Given the description of an element on the screen output the (x, y) to click on. 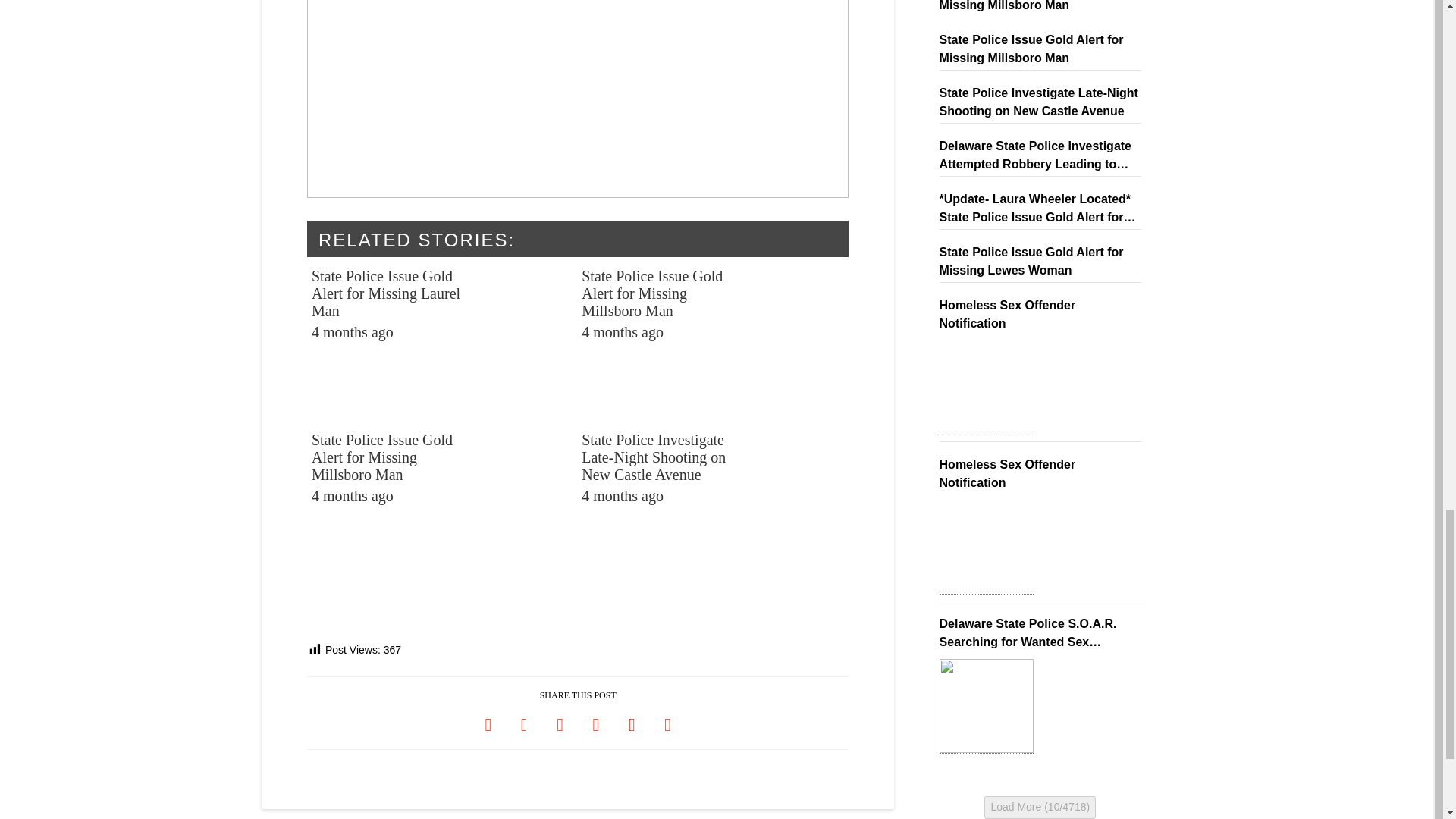
Homeless Sex Offender Notification (986, 387)
Homeless Sex Offender Notification (986, 546)
